Given the description of an element on the screen output the (x, y) to click on. 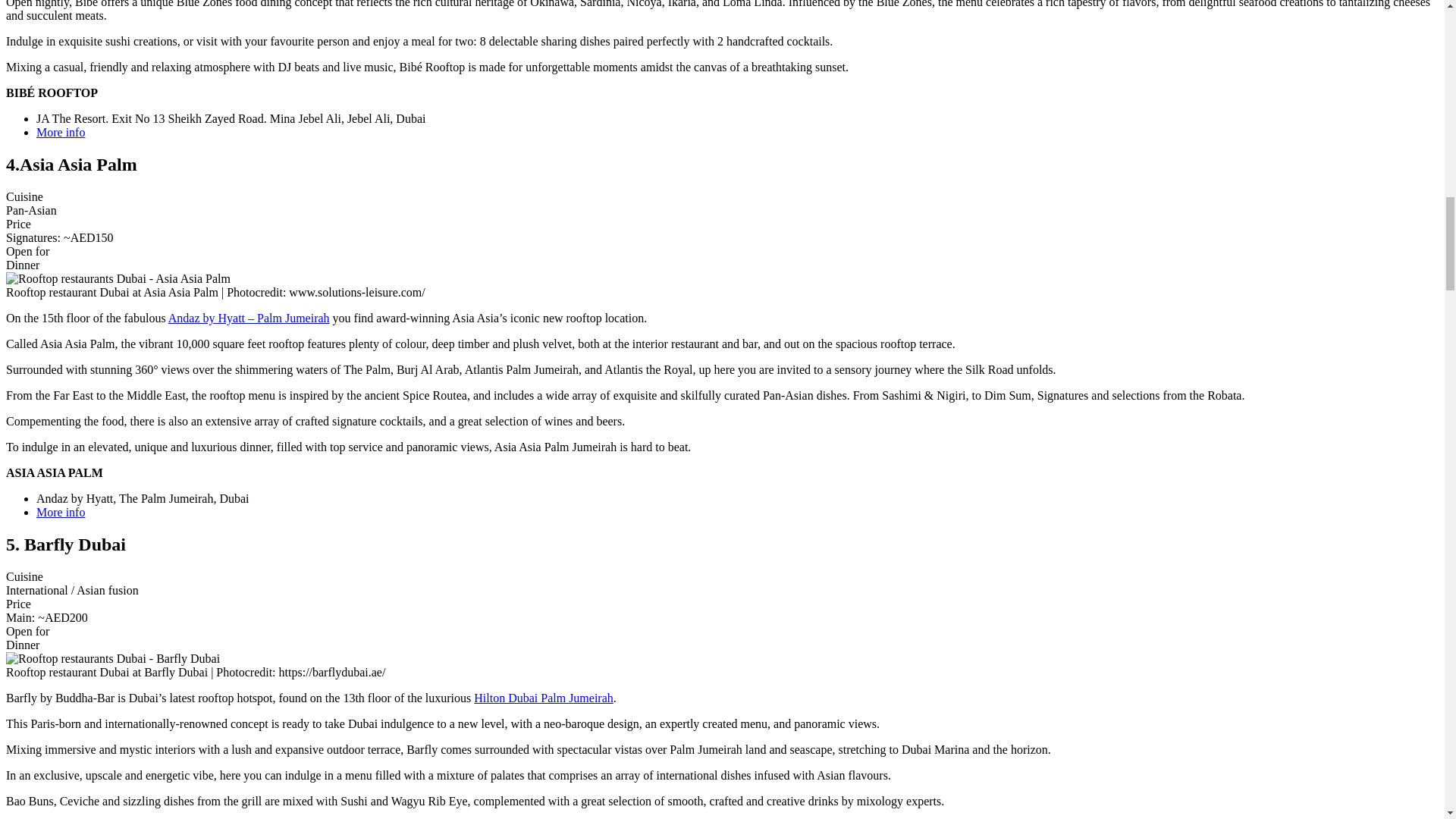
More info (60, 512)
Hilton Dubai Palm Jumeirah (543, 697)
More info (60, 132)
